Given the description of an element on the screen output the (x, y) to click on. 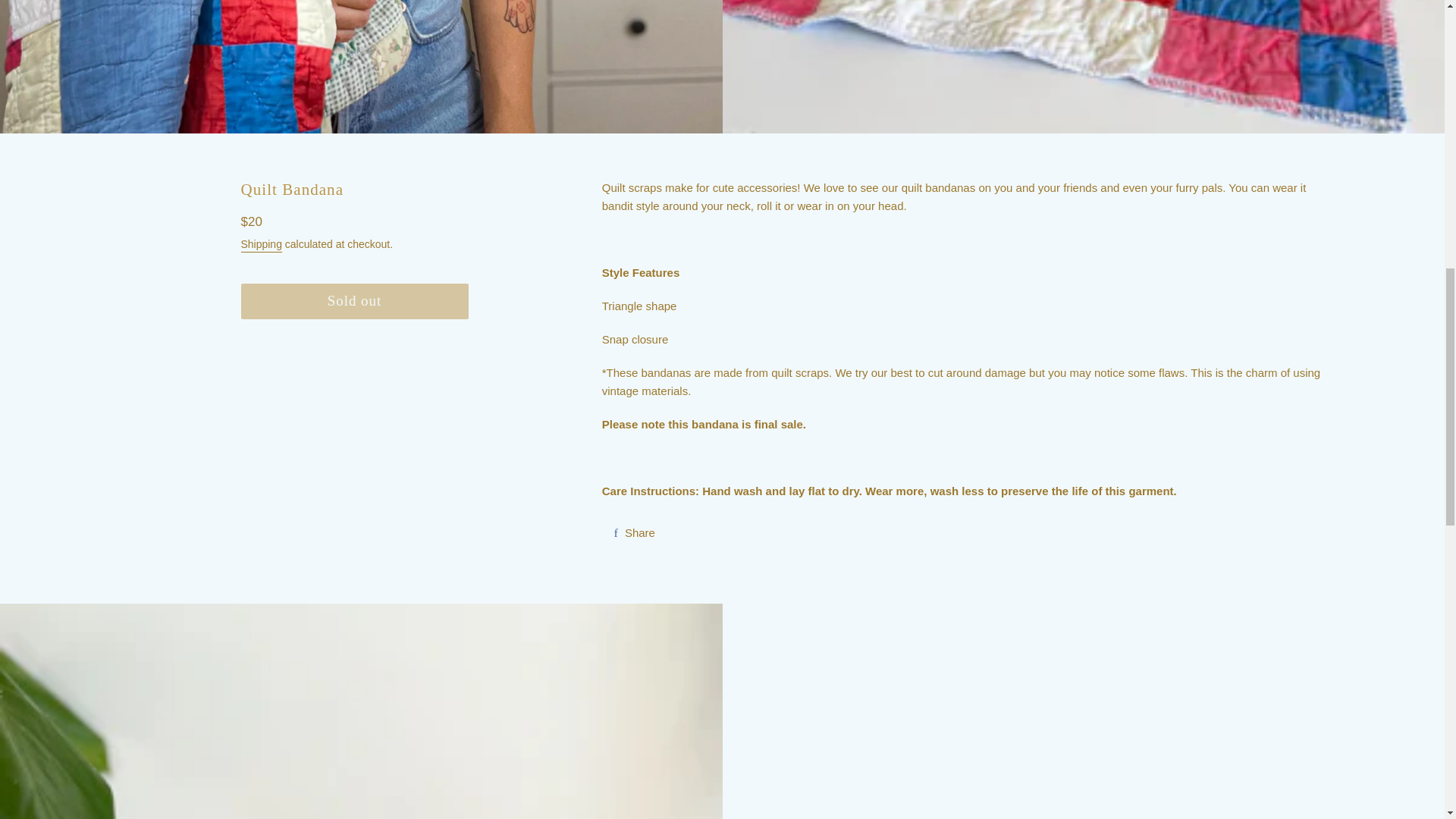
Sold out (354, 301)
Shipping (261, 245)
Share on Facebook (634, 532)
